Given the description of an element on the screen output the (x, y) to click on. 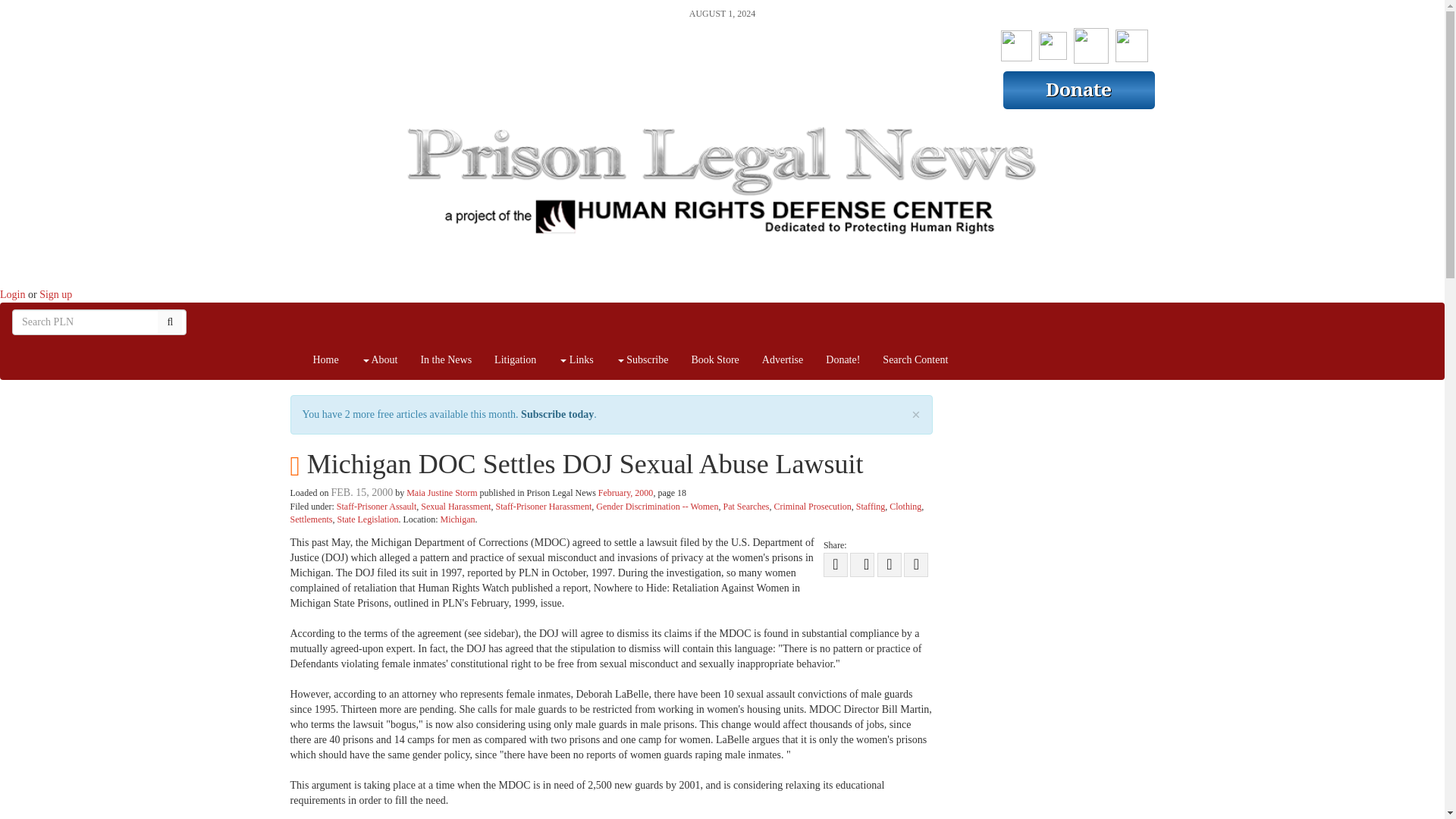
Subscribe (642, 360)
Litigation (515, 360)
Search (170, 321)
Maia Justine Storm (441, 492)
Links (575, 360)
Donate! (841, 360)
About (379, 360)
February, 2000 (625, 492)
Share on Facebook (862, 564)
Paul Wright's LinkedIn Page (1131, 42)
Login (12, 294)
Search Content (914, 360)
Sign up (55, 294)
Prison Legal News FaceBook Page (1016, 42)
Advertise (782, 360)
